Given the description of an element on the screen output the (x, y) to click on. 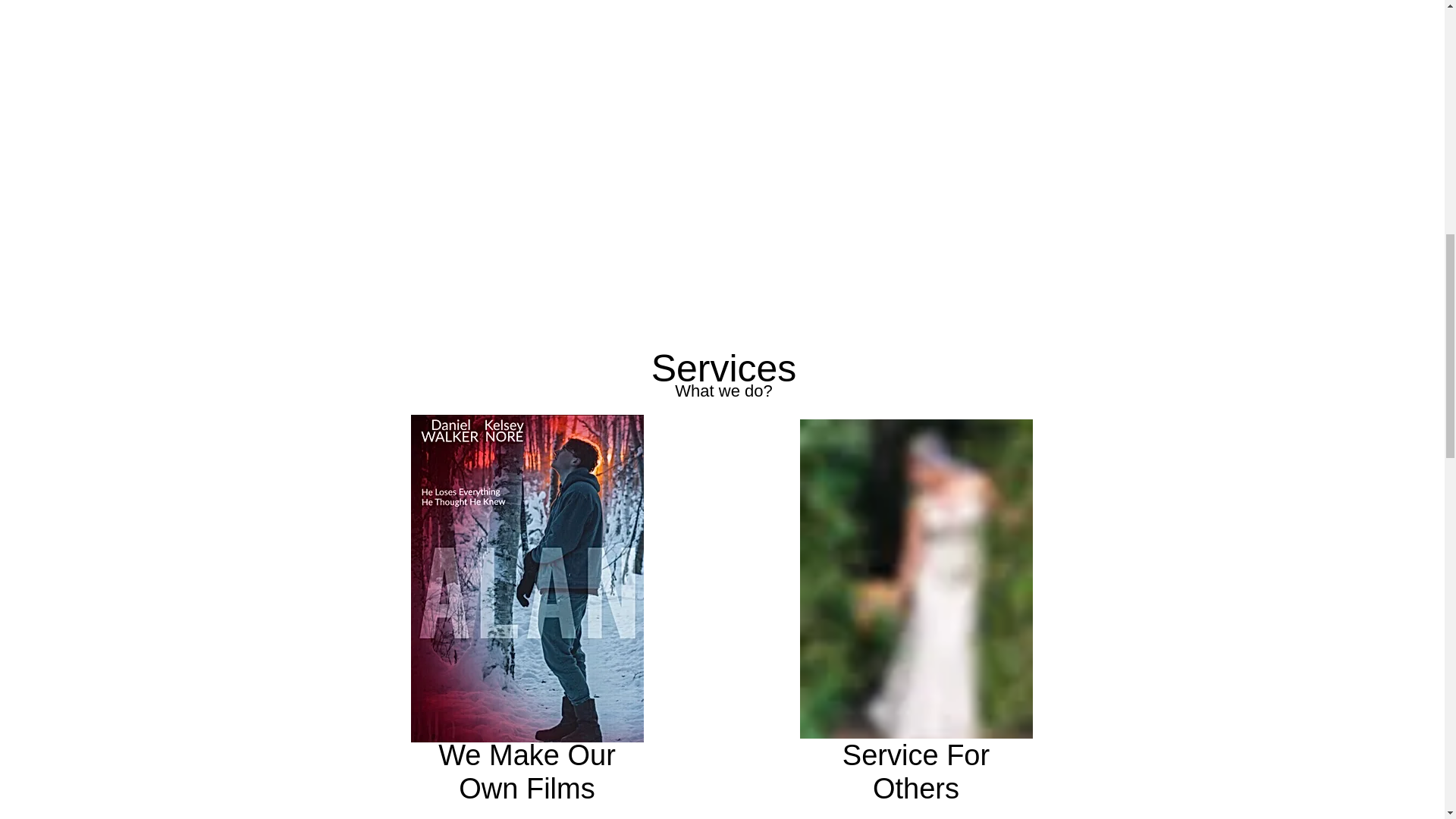
External Vimeo (721, 68)
